Given the description of an element on the screen output the (x, y) to click on. 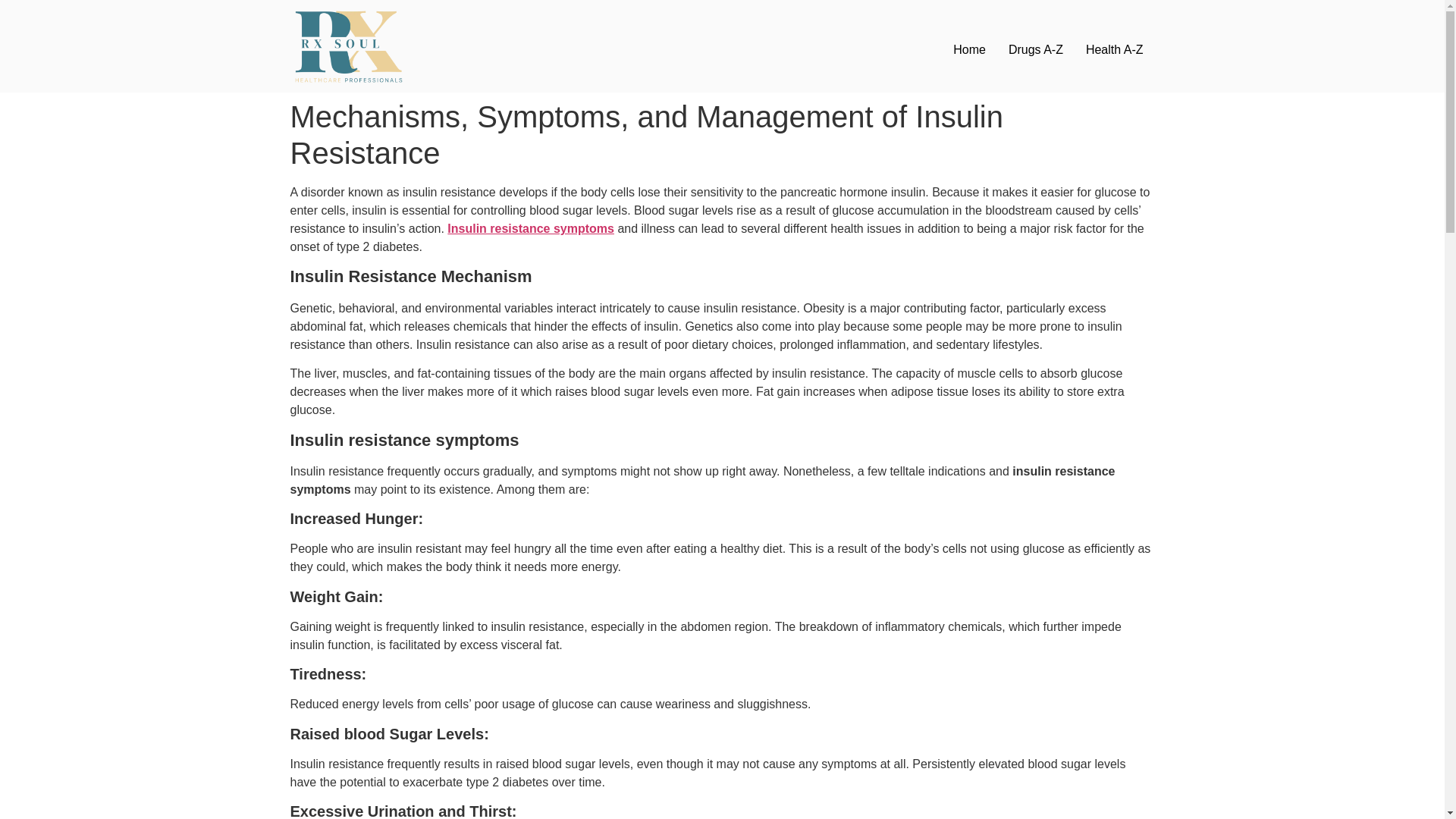
Insulin resistance symptoms (530, 228)
Health A-Z (1114, 50)
Home (969, 50)
Drugs A-Z (1035, 50)
